Given the description of an element on the screen output the (x, y) to click on. 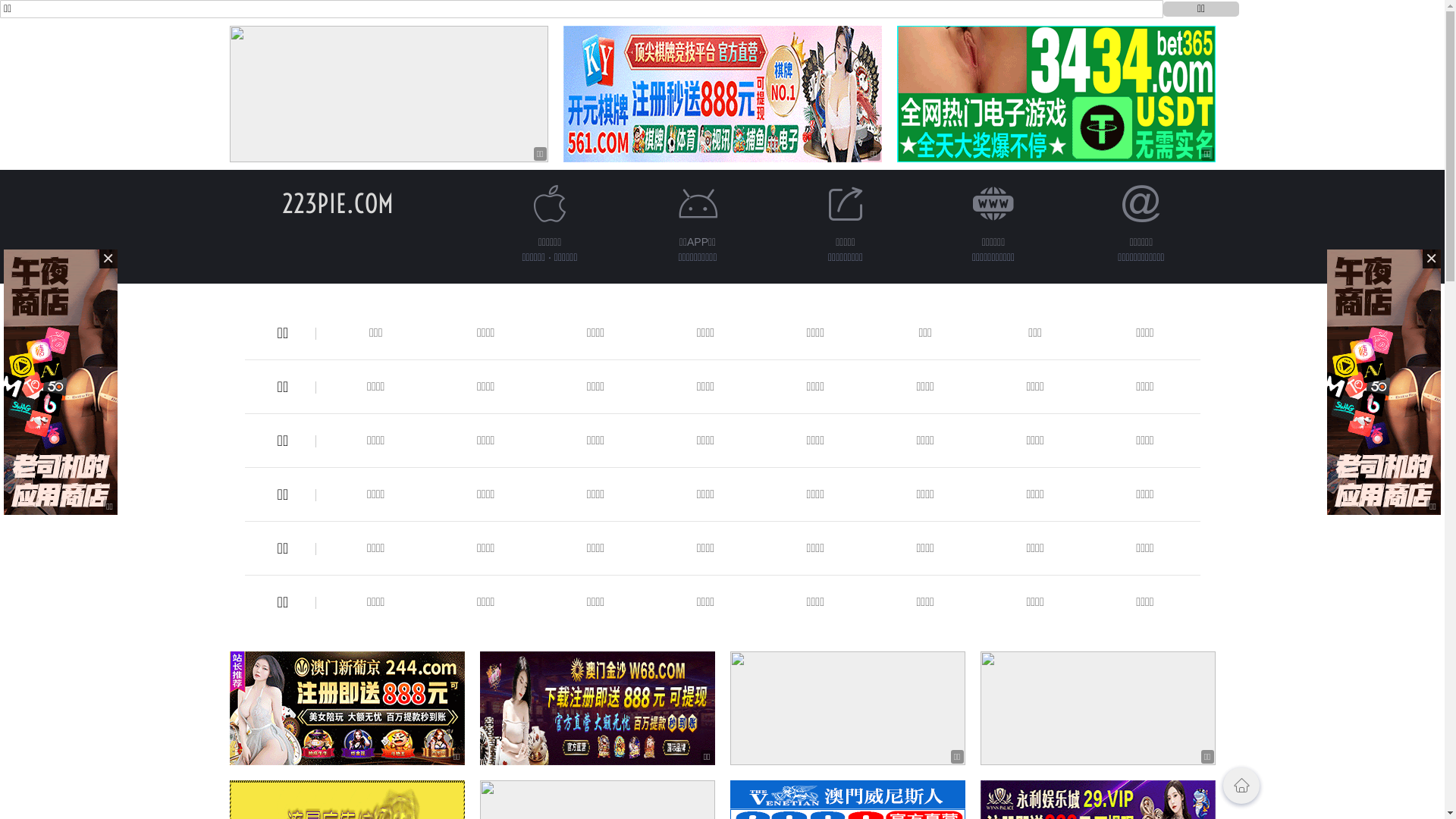
223PIE.COM Element type: text (337, 203)
